Given the description of an element on the screen output the (x, y) to click on. 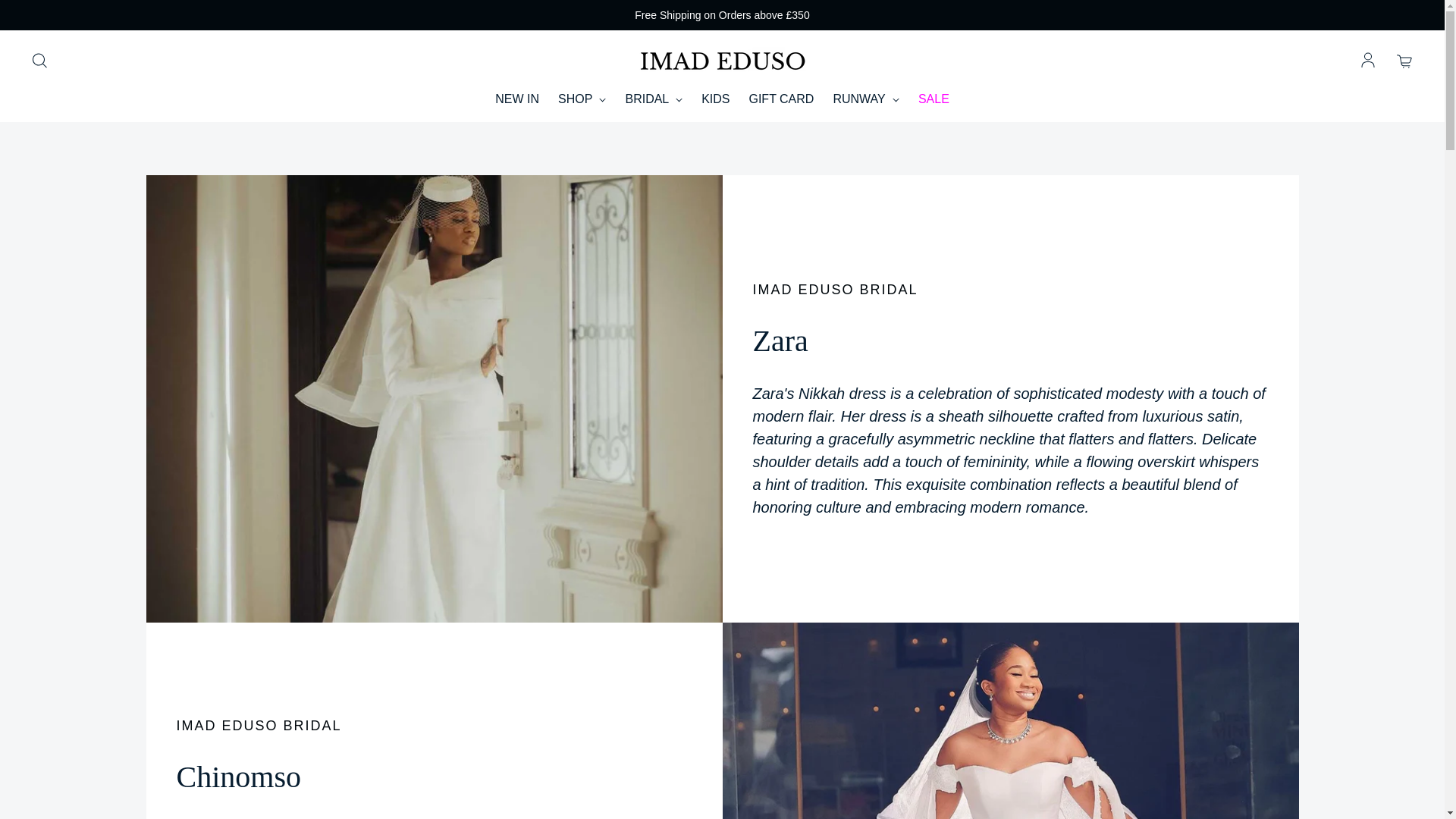
RUNWAY (865, 99)
SHOP (582, 99)
Log in (1367, 60)
BRIDAL (653, 99)
GIFT CARD (780, 99)
SALE (933, 99)
NEW IN (516, 99)
KIDS (715, 99)
